Given the description of an element on the screen output the (x, y) to click on. 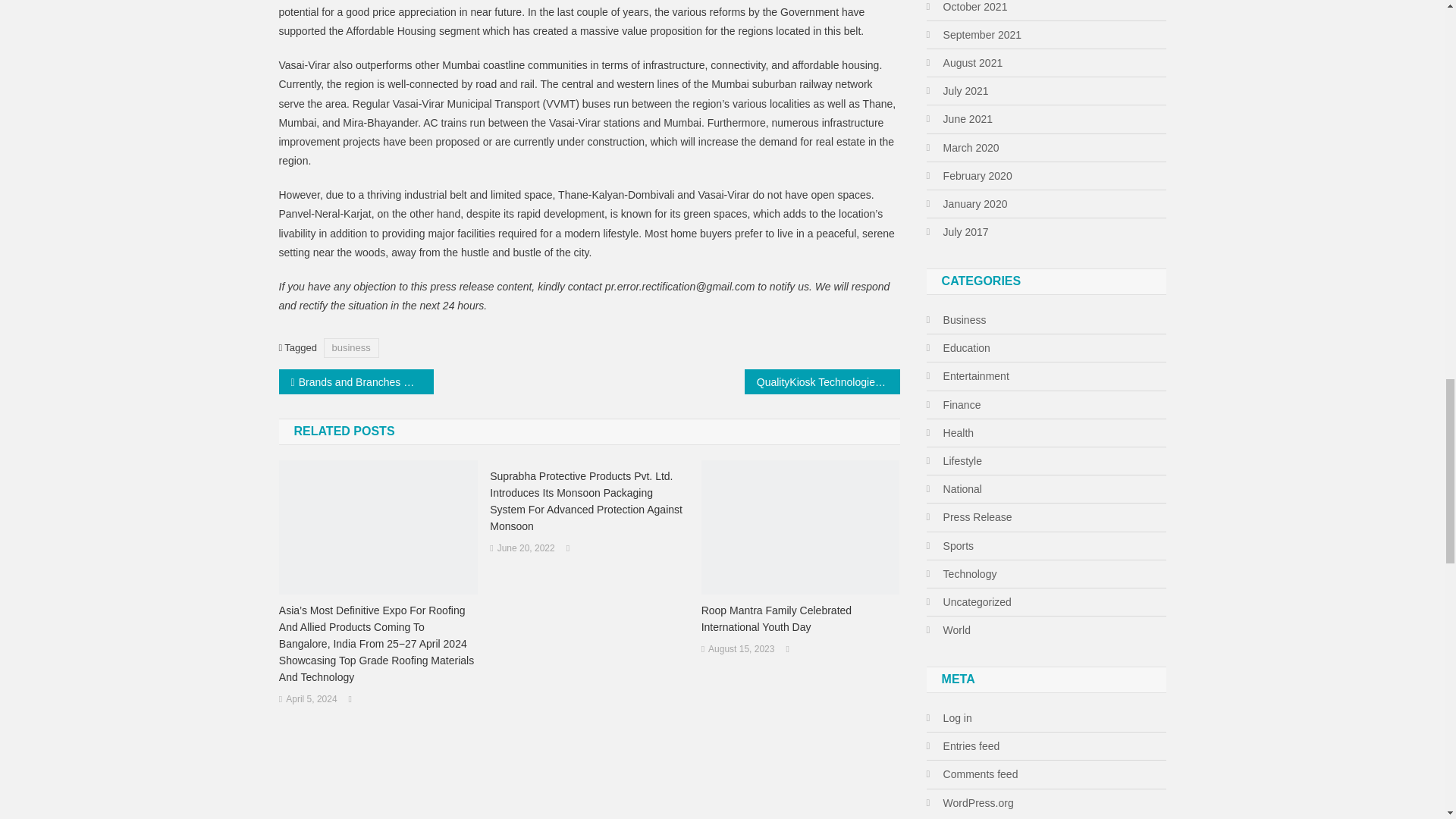
June 20, 2022 (525, 548)
August 15, 2023 (740, 649)
April 5, 2024 (310, 699)
business (350, 347)
Brands and Branches Celebrates Its 5th Anniversary (356, 381)
Roop Mantra Family Celebrated International Youth Day (800, 618)
